Given the description of an element on the screen output the (x, y) to click on. 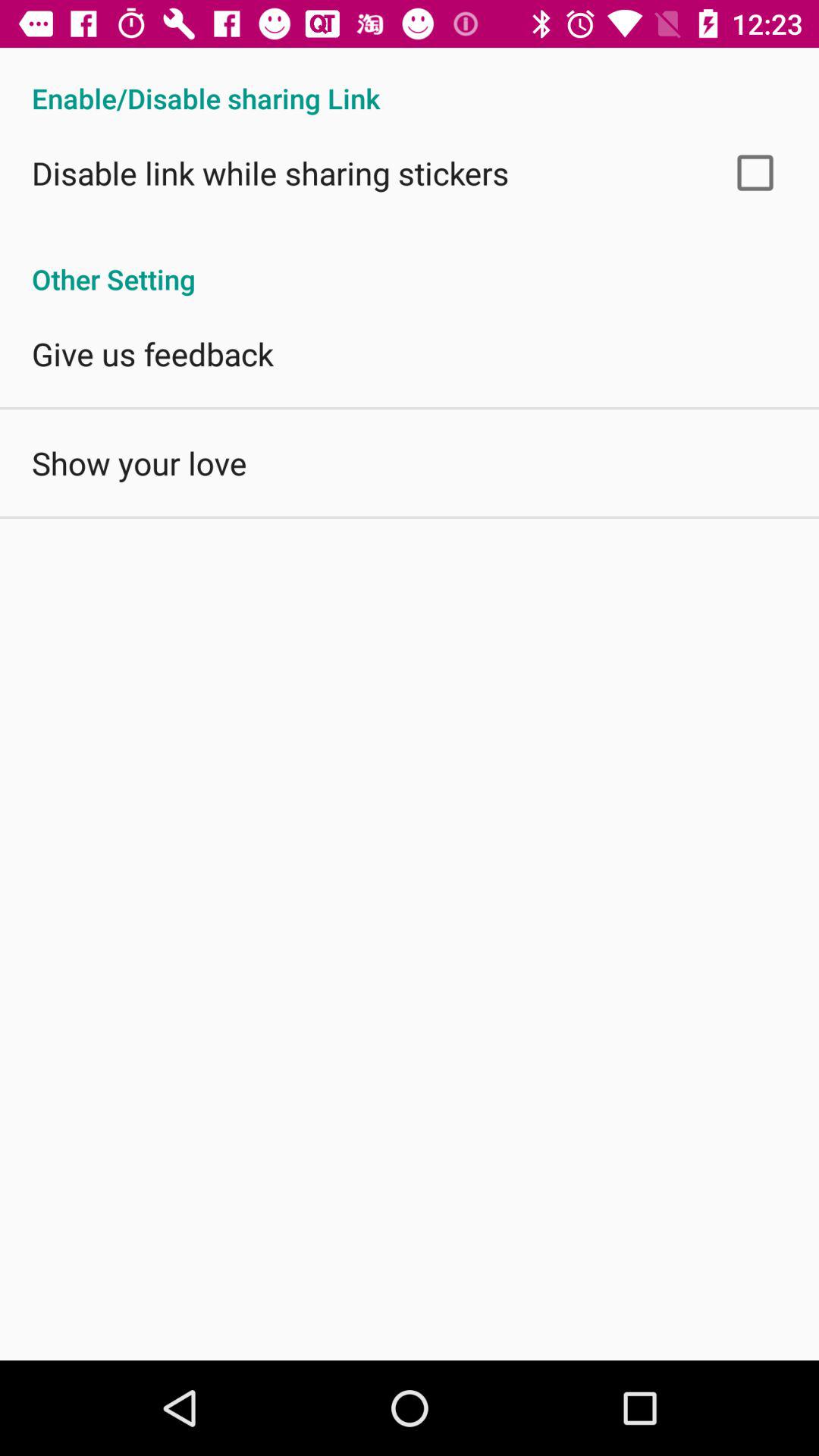
flip to other setting icon (409, 263)
